Given the description of an element on the screen output the (x, y) to click on. 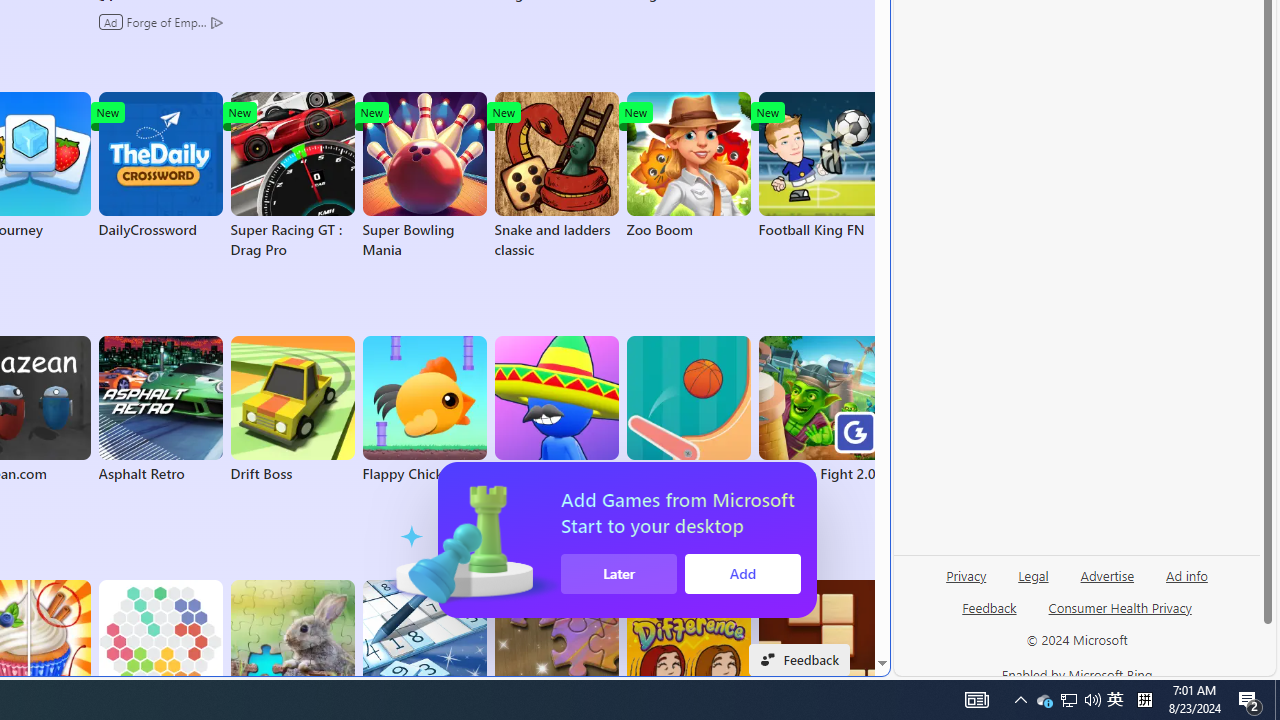
Consumer Health Privacy (1119, 607)
Class: ad-choice  ad-choice-mono  (215, 21)
google_privacy_policy_zh-CN.pdf (687, 482)
Super Racing GT : Drag Pro (292, 175)
Stickman Brawl (556, 409)
Flappy Chicken (424, 409)
